Given the description of an element on the screen output the (x, y) to click on. 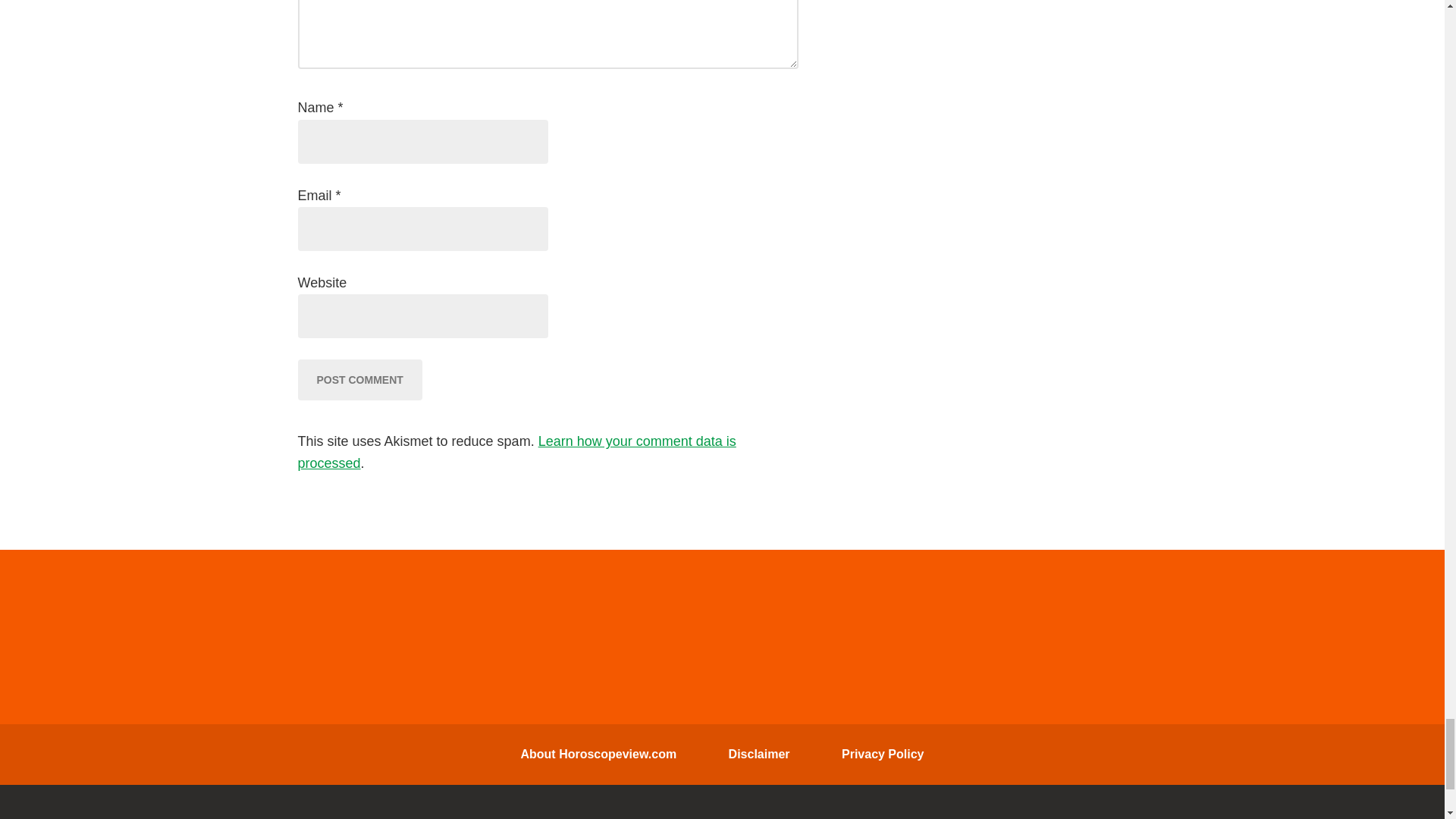
Post Comment (359, 379)
Post Comment (359, 379)
